Given the description of an element on the screen output the (x, y) to click on. 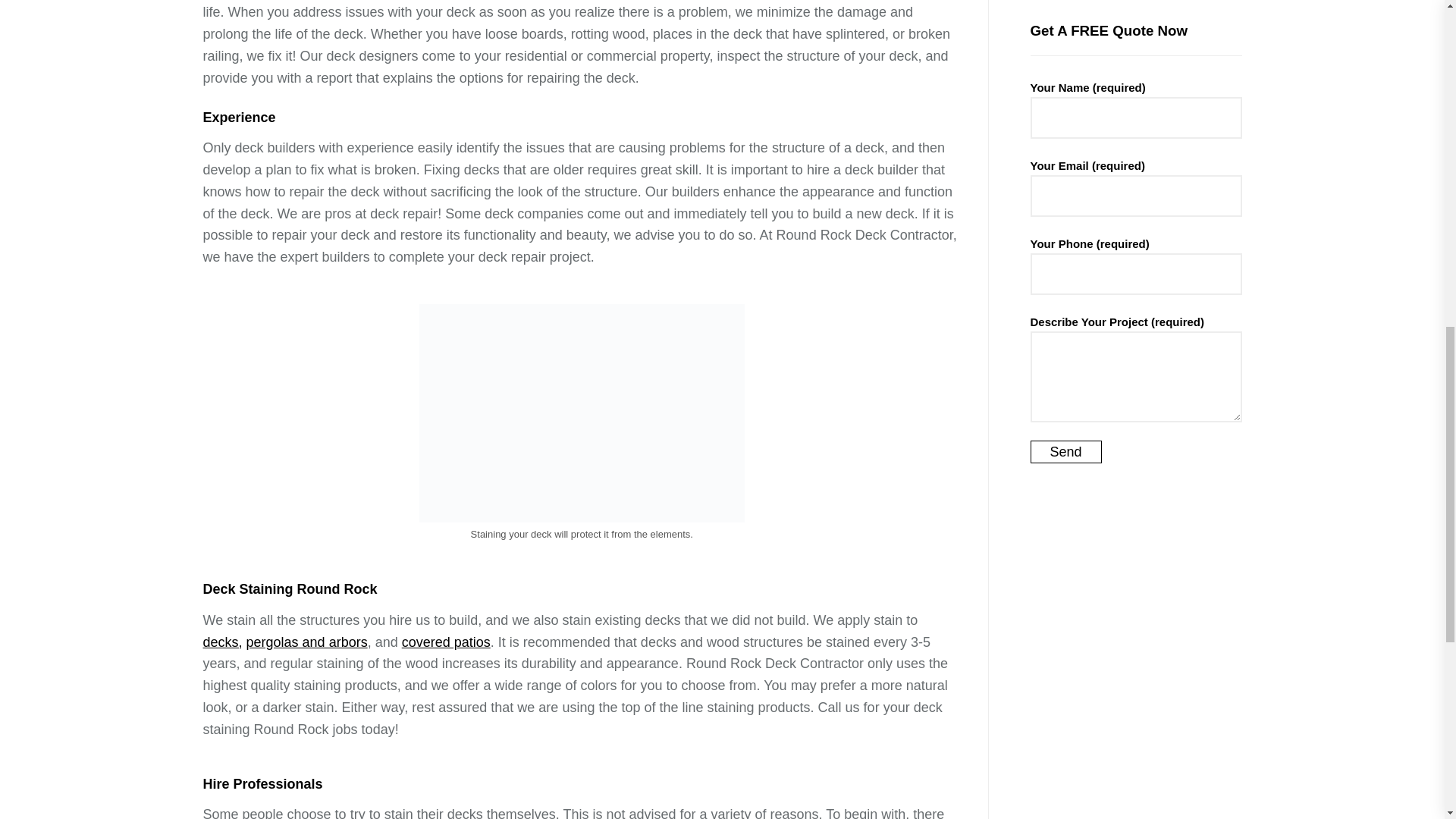
pergolas and arbors (307, 642)
decks, (223, 642)
covered patios (445, 642)
